Given the description of an element on the screen output the (x, y) to click on. 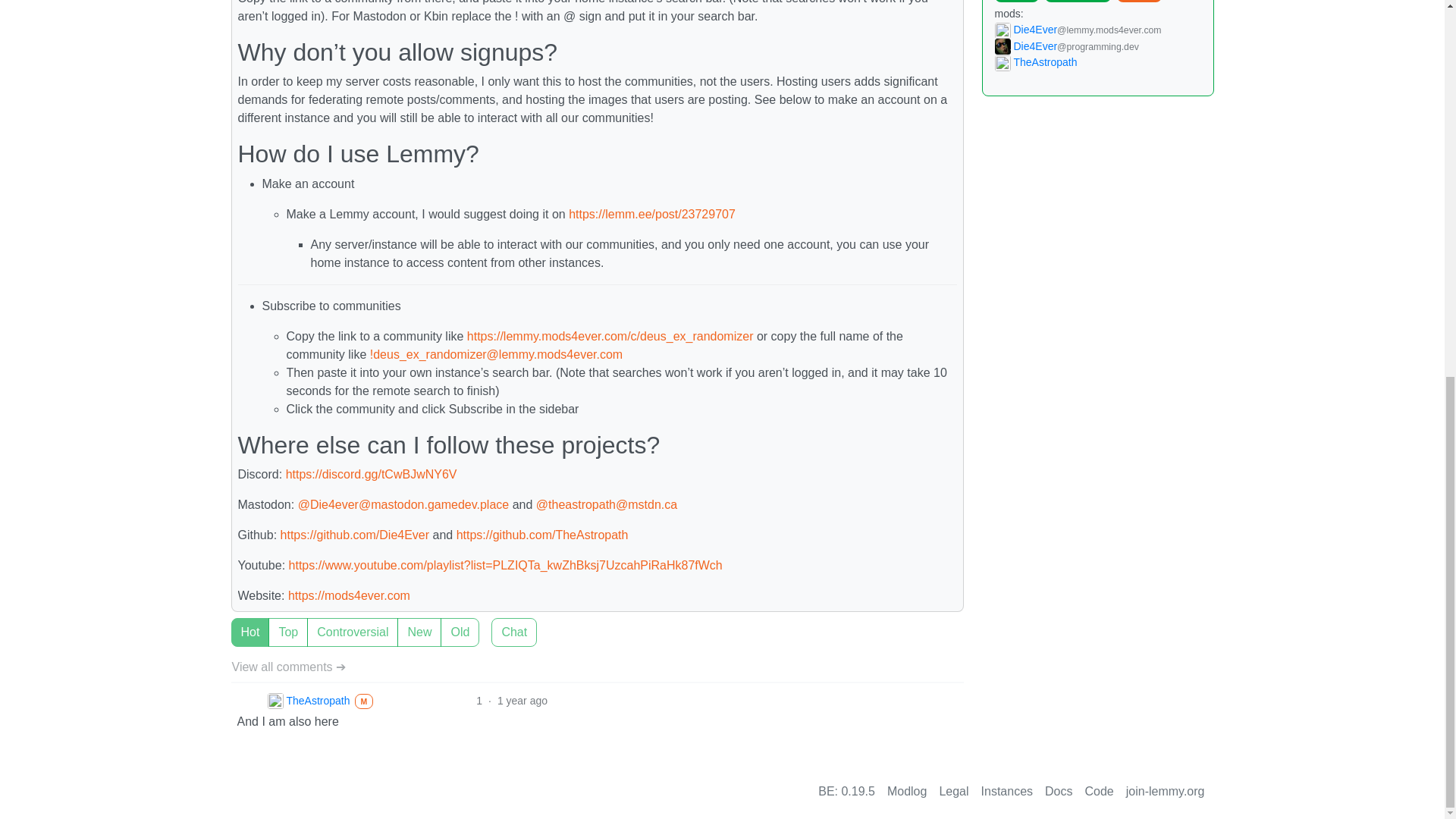
Top (235, 623)
1 (496, 623)
Hot (235, 623)
Controversial (235, 623)
New (235, 623)
Old (235, 623)
